Given the description of an element on the screen output the (x, y) to click on. 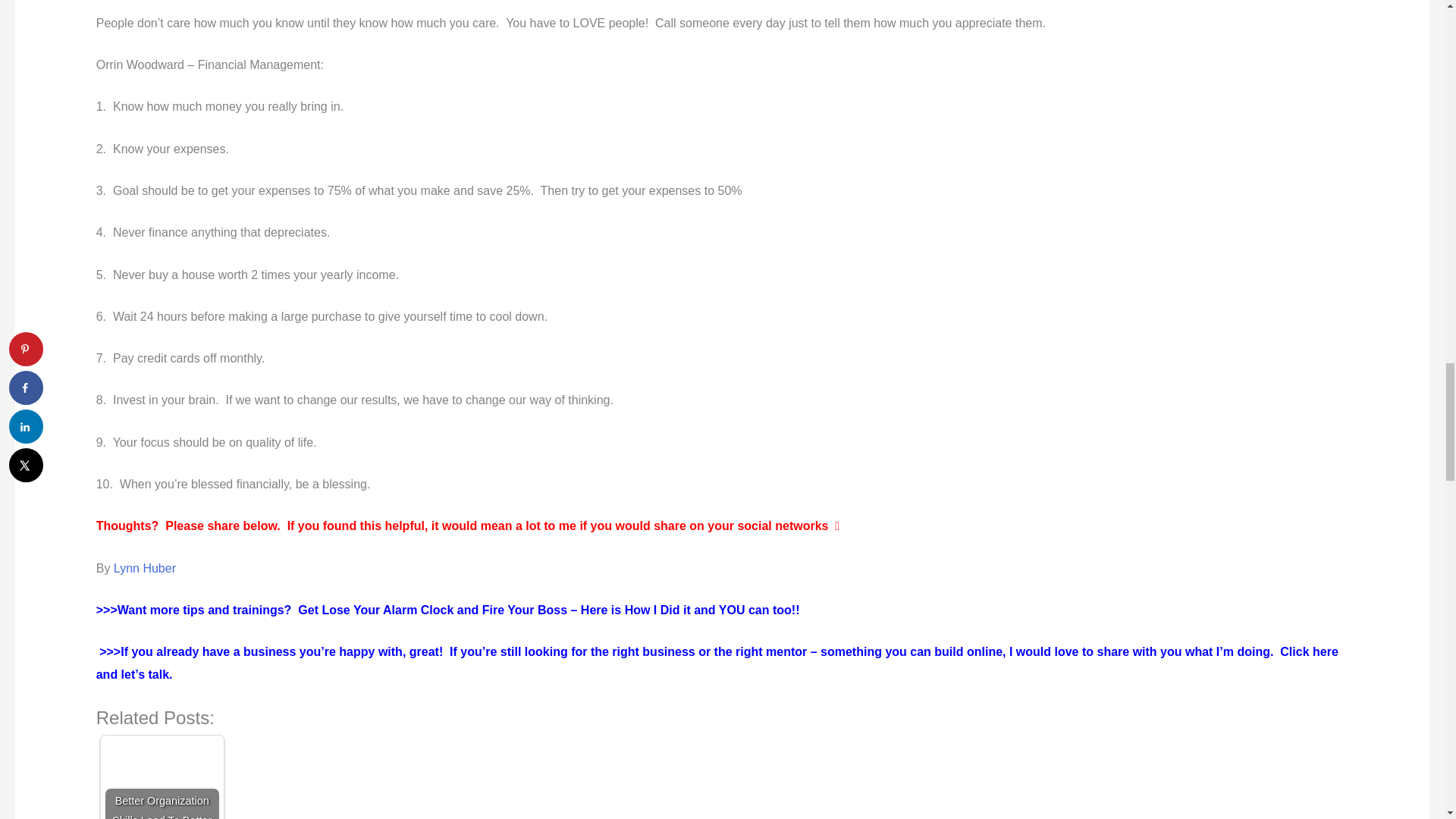
Lose Your Alarm Clock and Fire Your Boss (560, 609)
Better Organization Skills Lead To Better Productivity (161, 779)
Lynn Huber (144, 567)
Better Organization Skills Lead To Better Productivity (161, 779)
